Given the description of an element on the screen output the (x, y) to click on. 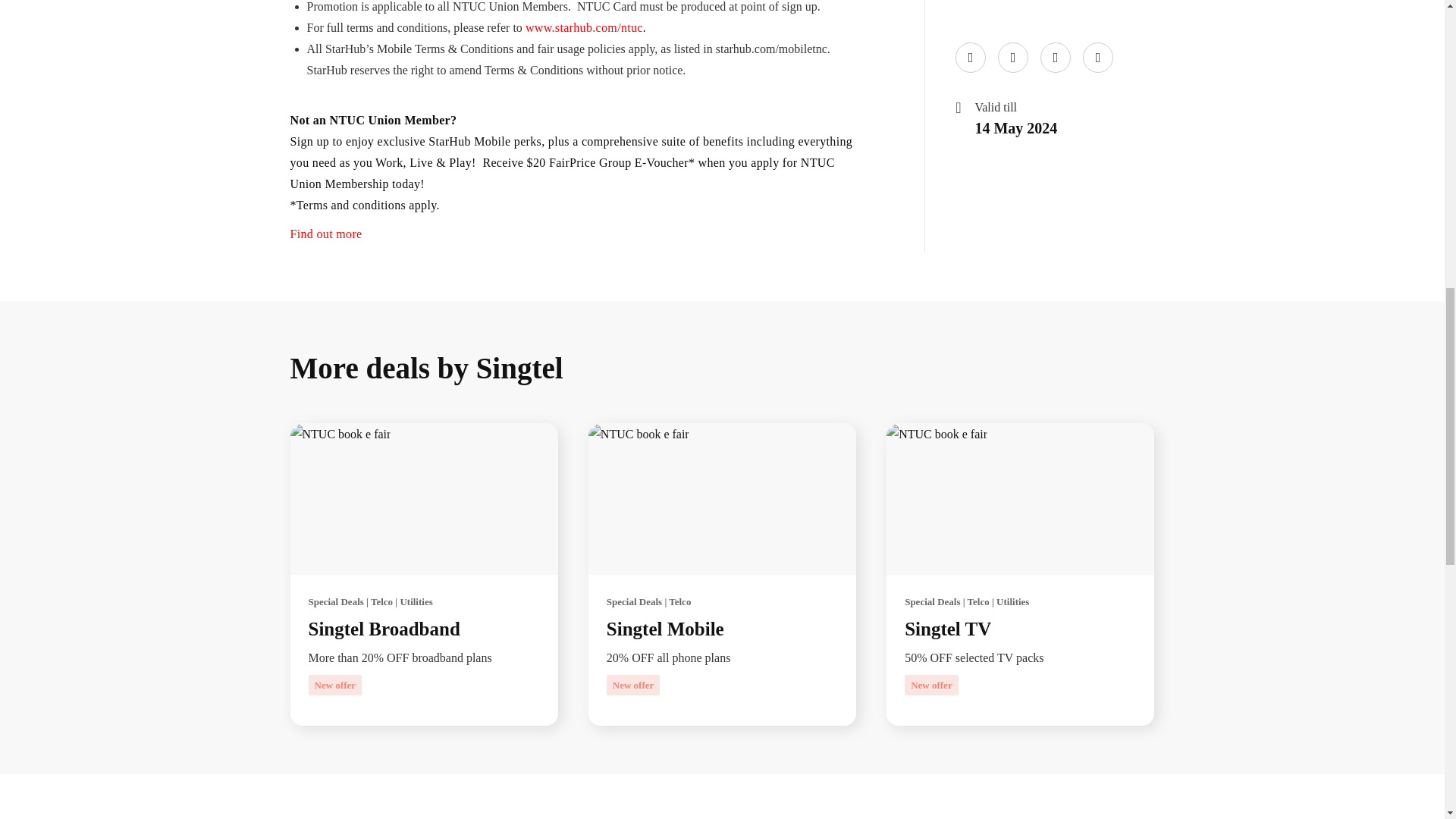
Find out more (325, 233)
